Given the description of an element on the screen output the (x, y) to click on. 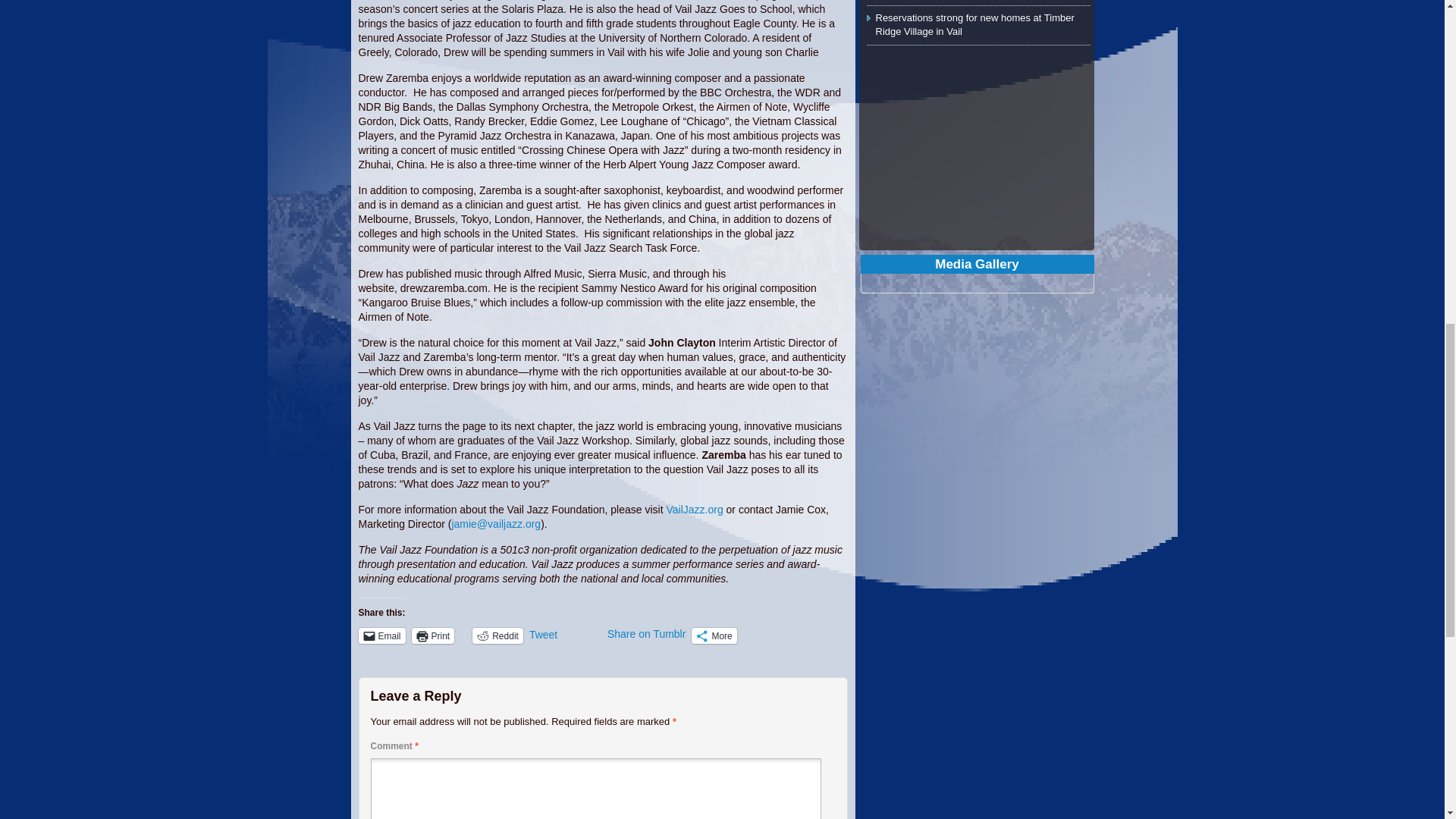
VailJazz.org (693, 509)
Email (381, 635)
Print (433, 635)
Share on Tumblr (646, 634)
Reddit (496, 635)
Click to share on Reddit (496, 635)
Share on Tumblr (646, 634)
Click to print (433, 635)
Tweet (565, 634)
